Given the description of an element on the screen output the (x, y) to click on. 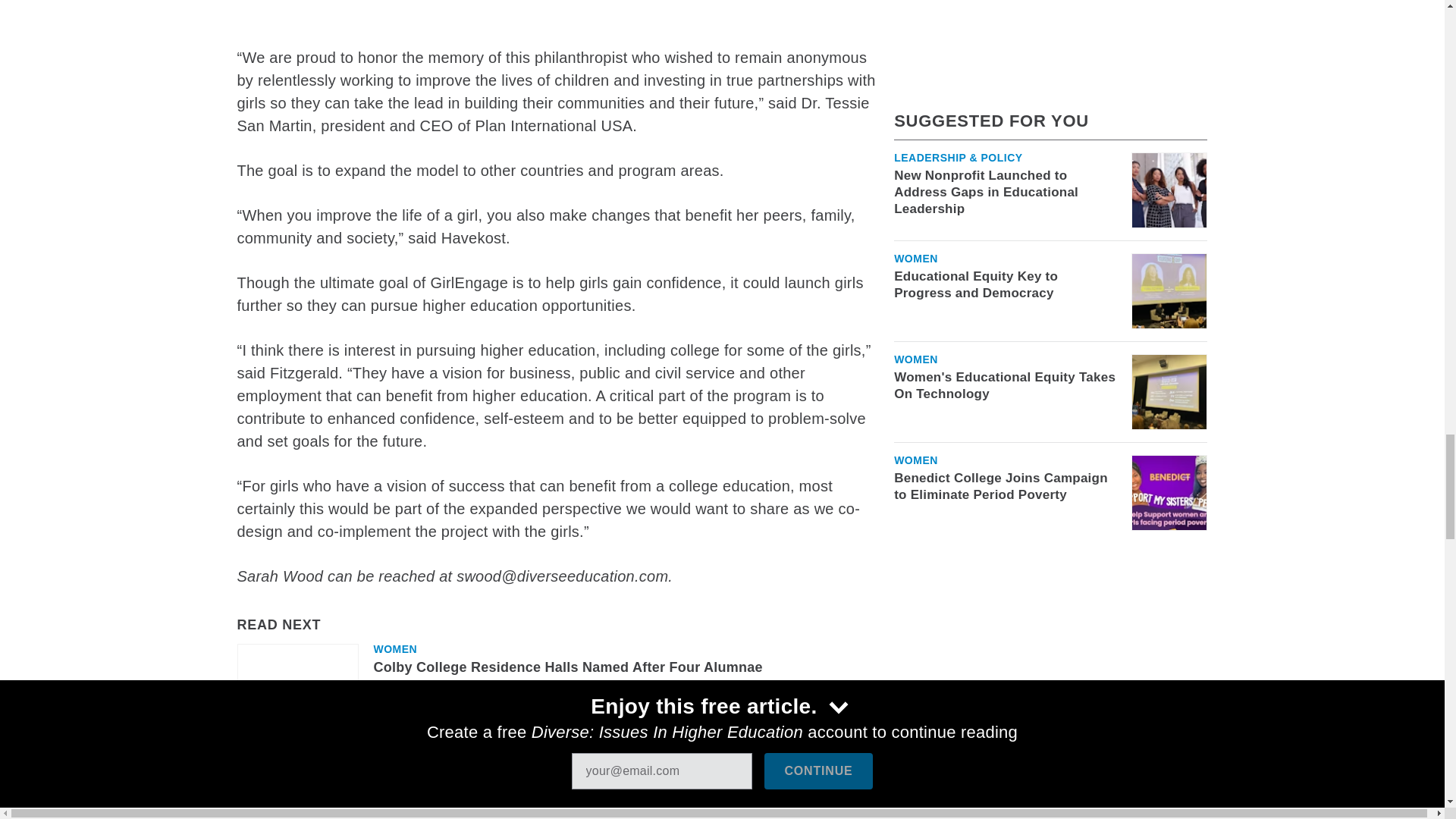
Share To print (250, 776)
